Given the description of an element on the screen output the (x, y) to click on. 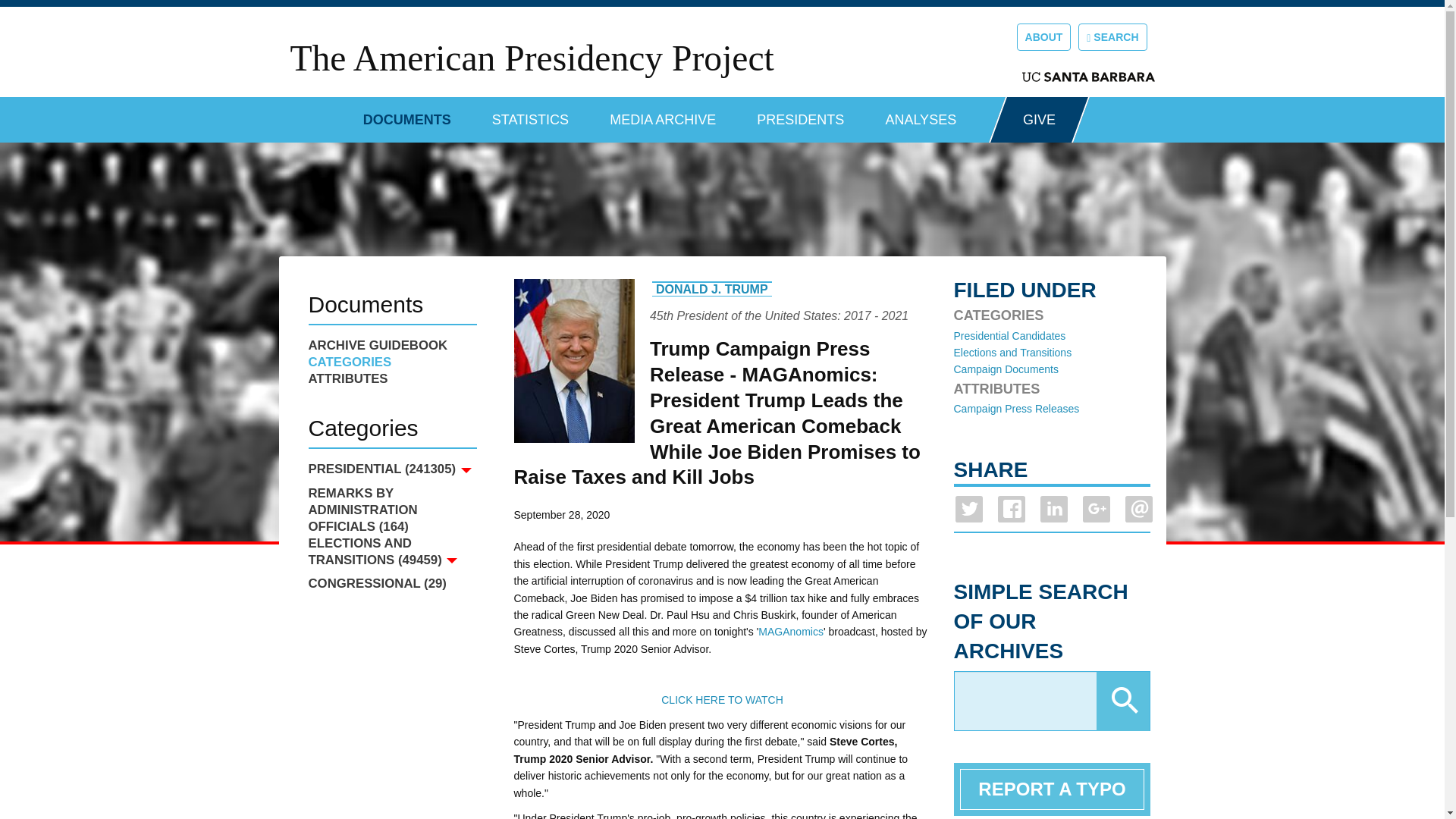
ATTRIBUTES (391, 379)
DOCUMENTS (406, 113)
STATISTICS (530, 113)
ARCHIVE GUIDEBOOK (391, 345)
ABOUT (1043, 36)
The American Presidency Project (531, 57)
ANALYSES (920, 113)
CATEGORIES (391, 362)
GIVE (1038, 119)
